Given the description of an element on the screen output the (x, y) to click on. 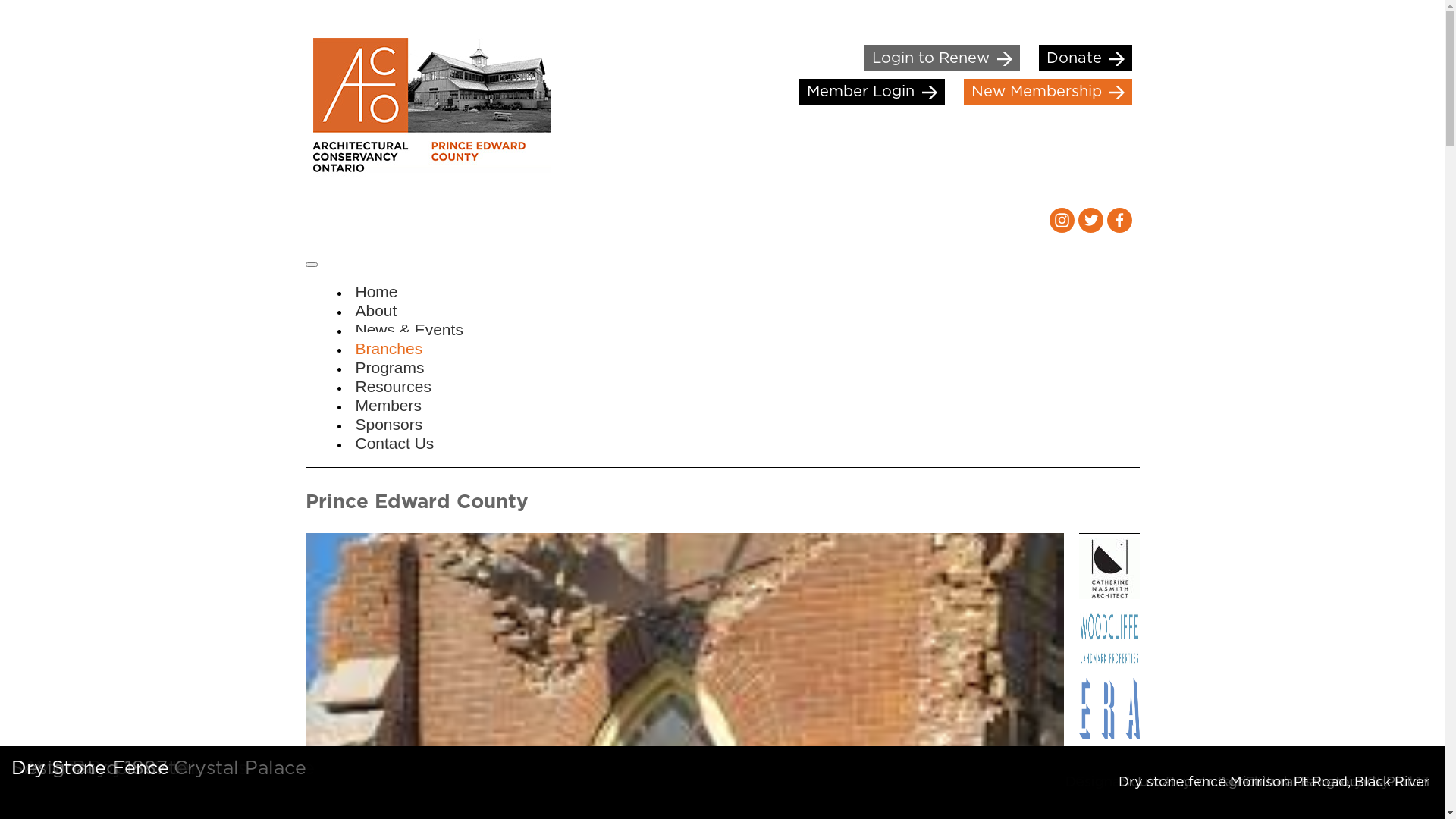
Resources Element type: text (392, 386)
Sponsors Element type: text (388, 423)
News & Events Element type: text (408, 329)
About Element type: text (375, 310)
Toggle navigation Element type: text (310, 264)
Member Login Element type: text (871, 91)
New Membership Element type: text (1047, 91)
Programs Element type: text (388, 367)
Branches Element type: text (388, 348)
Members Element type: text (387, 405)
ARCHITECTURAL CONSERVANCY ONTARIO Element type: hover (427, 109)
Login to Renew Element type: text (941, 58)
Donate Element type: text (1085, 58)
Contact Us Element type: text (393, 442)
Home Element type: text (375, 291)
